Given the description of an element on the screen output the (x, y) to click on. 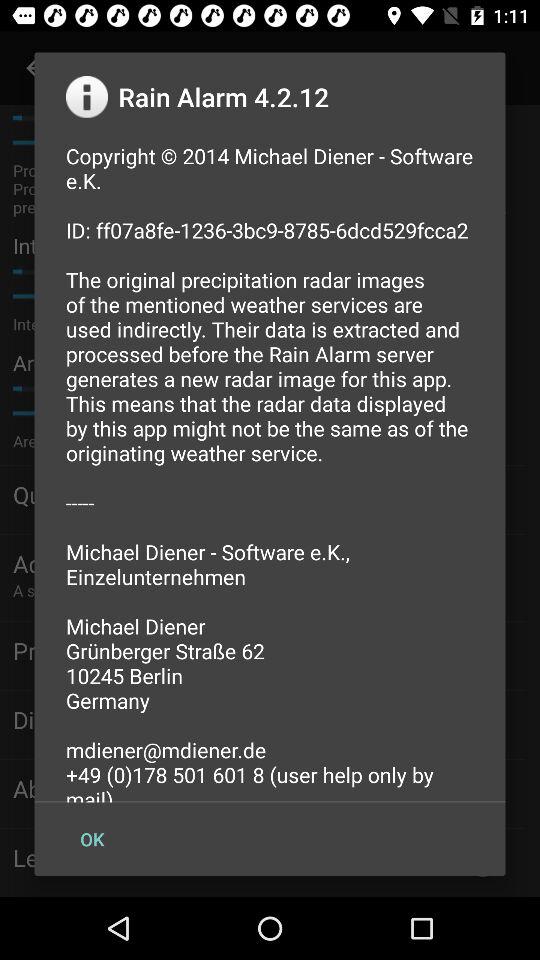
swipe to the ok icon (92, 838)
